Given the description of an element on the screen output the (x, y) to click on. 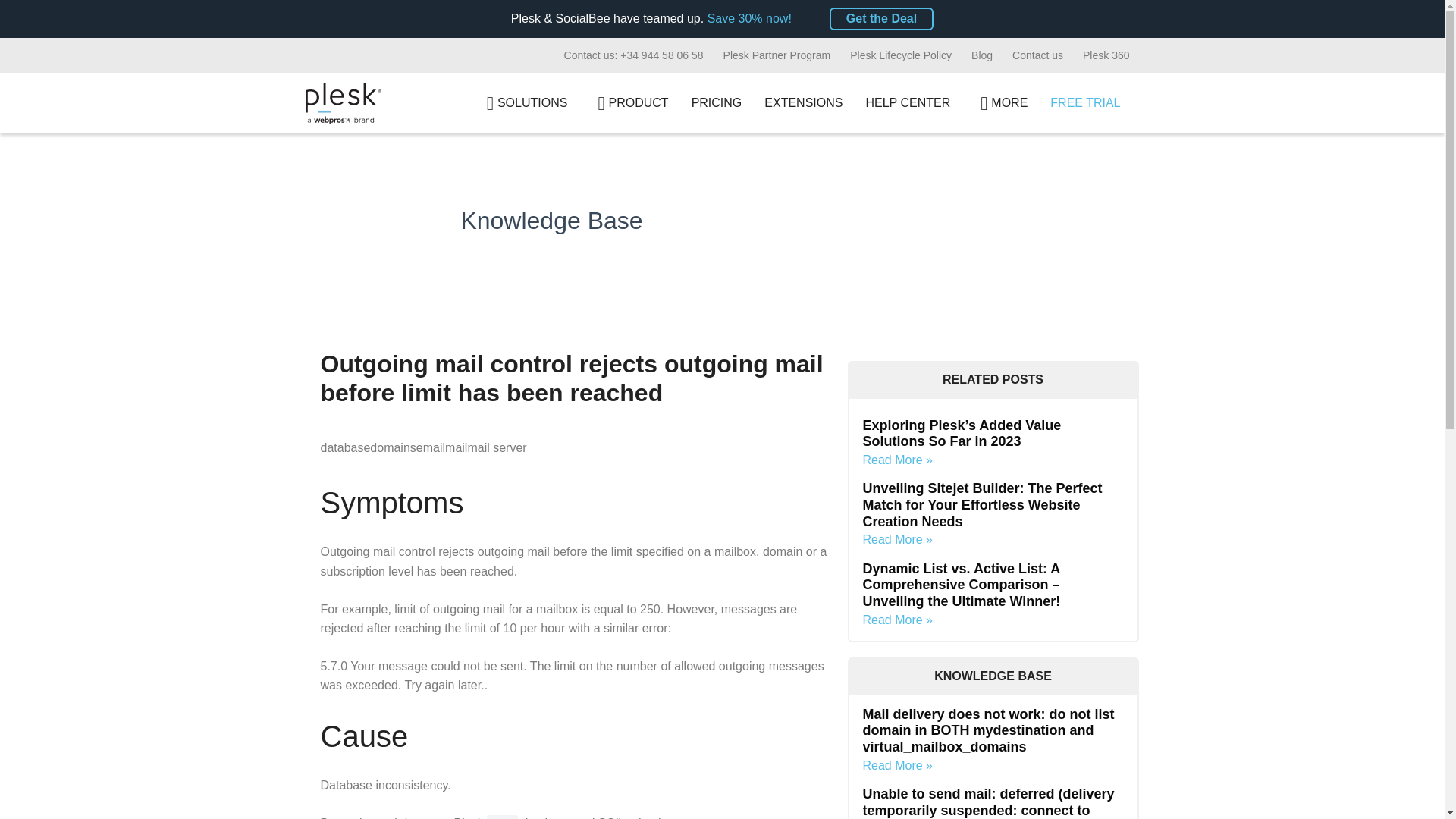
Blog (981, 54)
Skip to content (15, 7)
SOLUTIONS (523, 102)
Plesk 360 (1105, 54)
Plesk Lifecycle Policy (900, 54)
Contact us (1038, 54)
Get the Deal (881, 18)
Plesk Partner Program (777, 54)
